Given the description of an element on the screen output the (x, y) to click on. 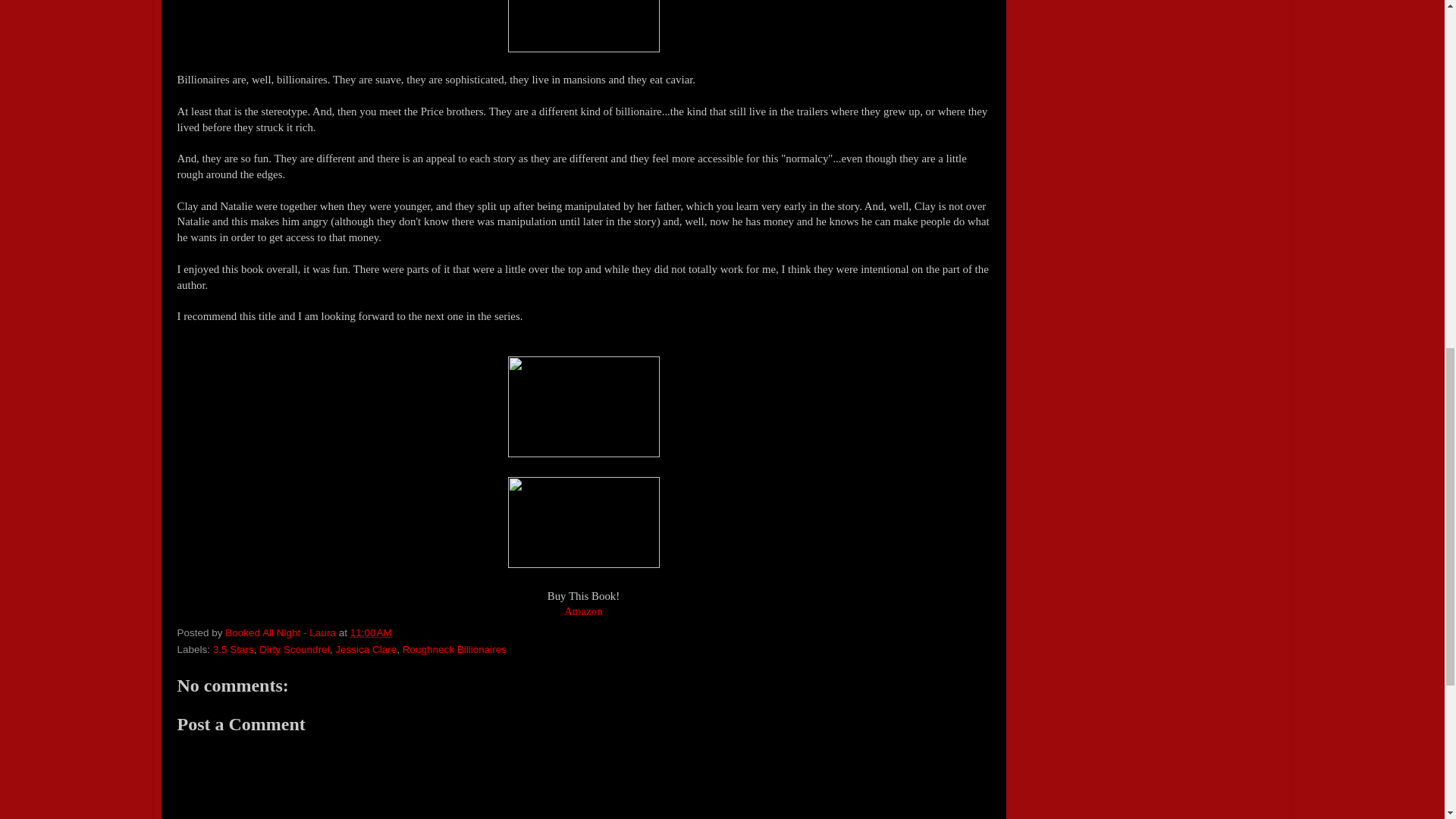
author profile (281, 632)
Amazon (583, 611)
Jessica Clare (365, 649)
Booked All Night - Laura (281, 632)
permanent link (370, 632)
Dirty Scoundrel (294, 649)
3.5 Stars (232, 649)
Roughneck Billionaires (454, 649)
